Given the description of an element on the screen output the (x, y) to click on. 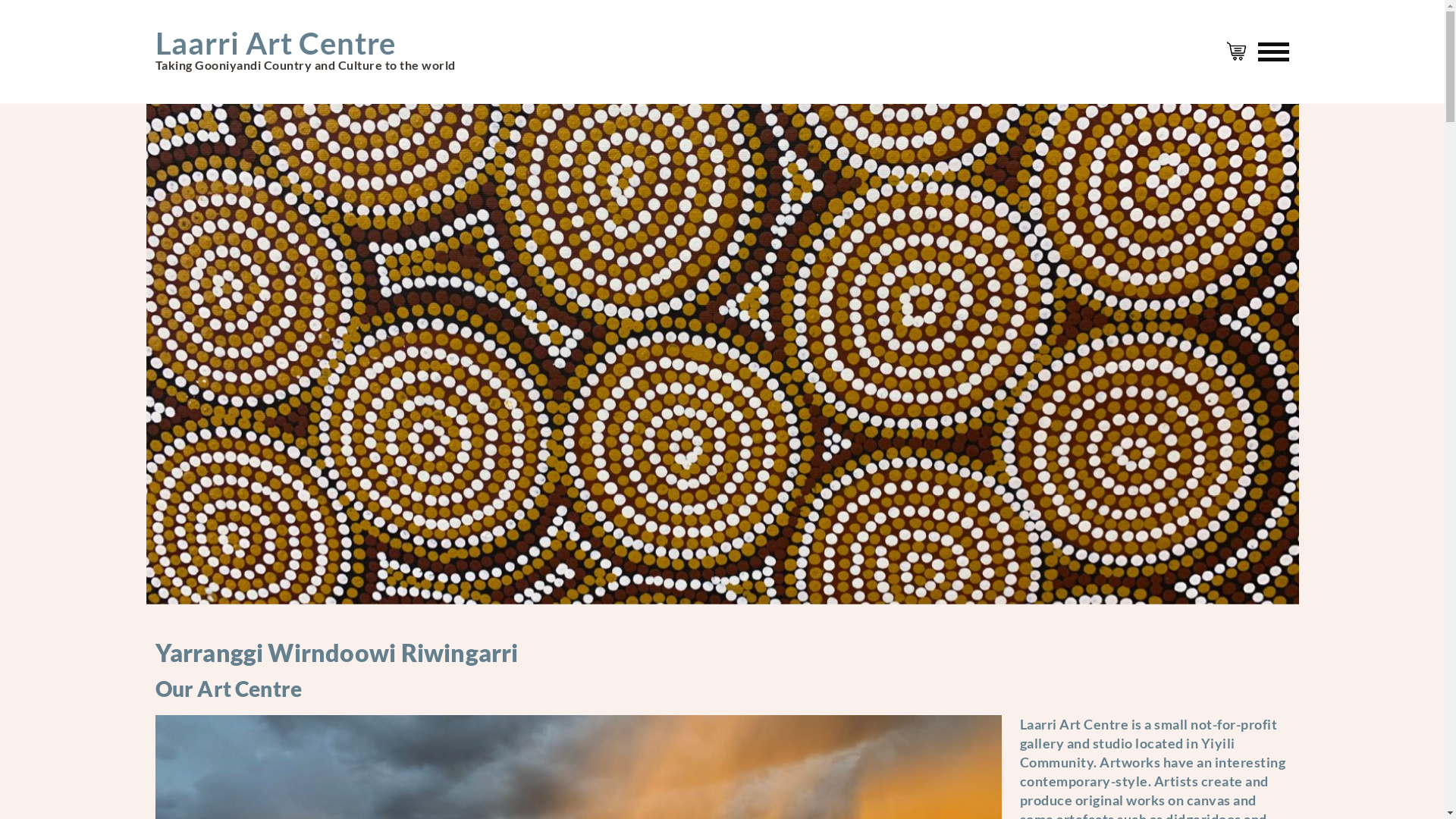
Yarranggi Wirndoowi Riwingarri Element type: text (335, 652)
Our Art Centre Element type: text (227, 688)
